Given the description of an element on the screen output the (x, y) to click on. 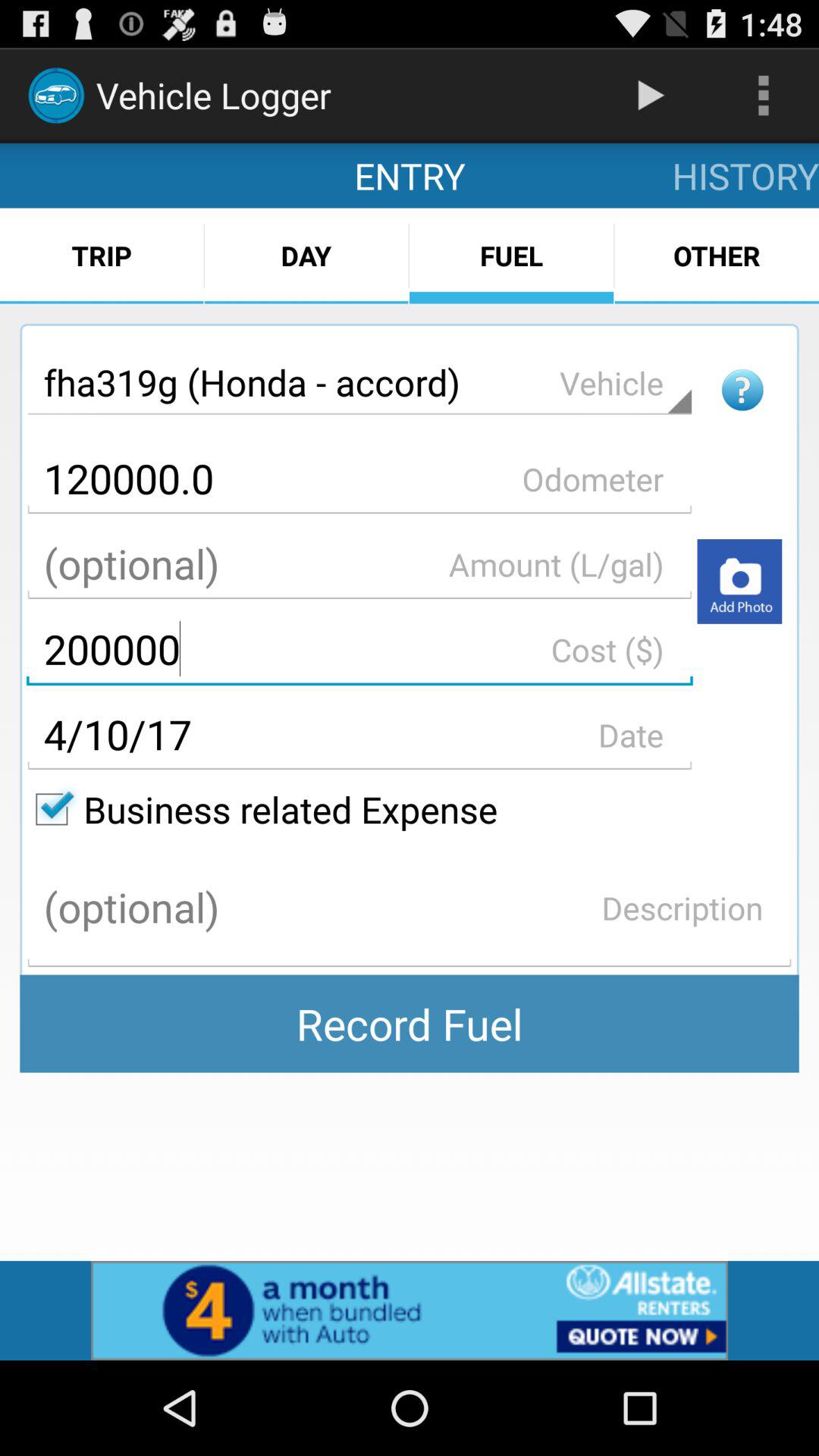
optional clicking option (359, 563)
